Given the description of an element on the screen output the (x, y) to click on. 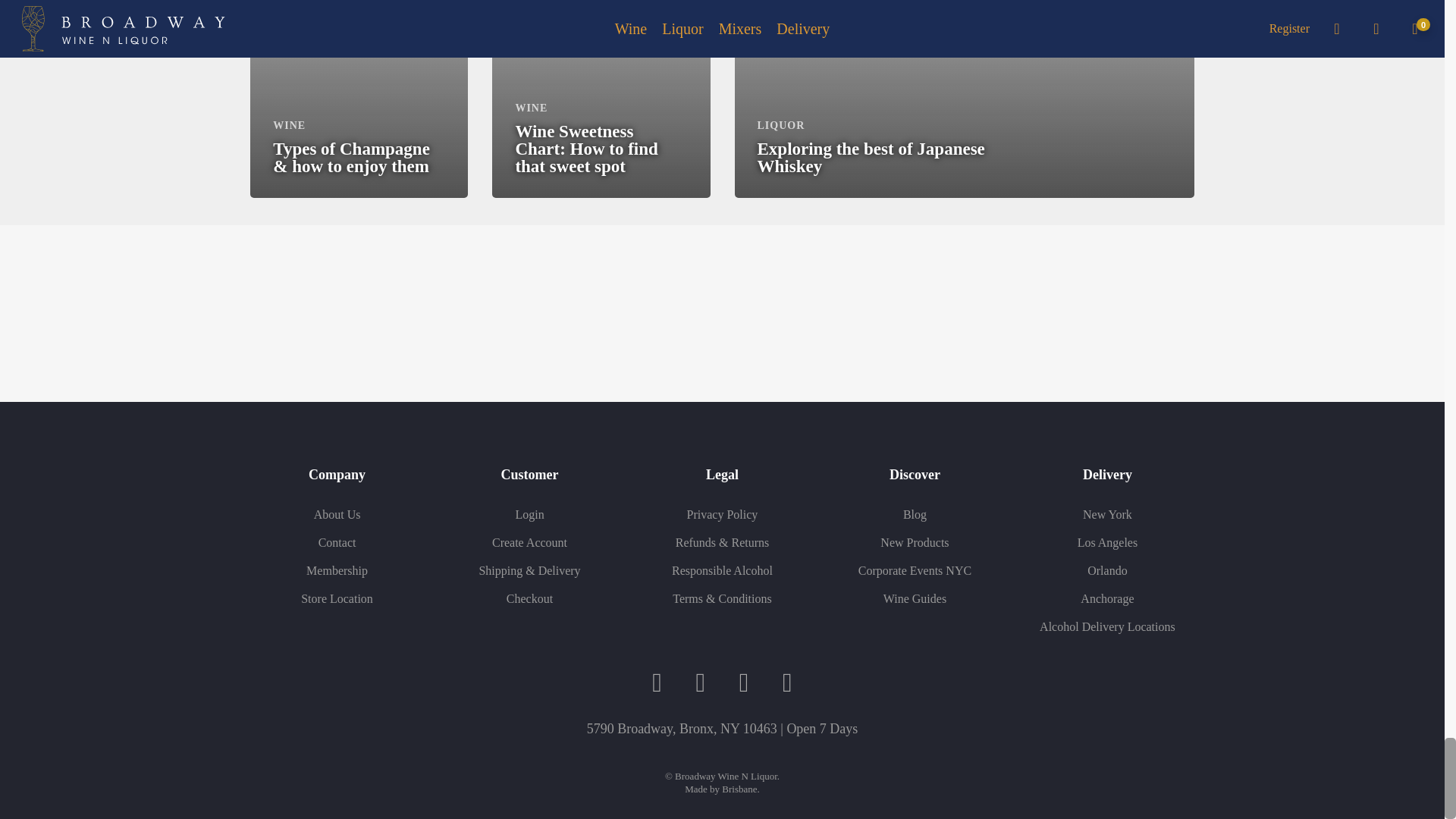
Brisbane Agency (739, 788)
Instagram (699, 682)
Google Maps (787, 682)
Facebook (657, 682)
